Given the description of an element on the screen output the (x, y) to click on. 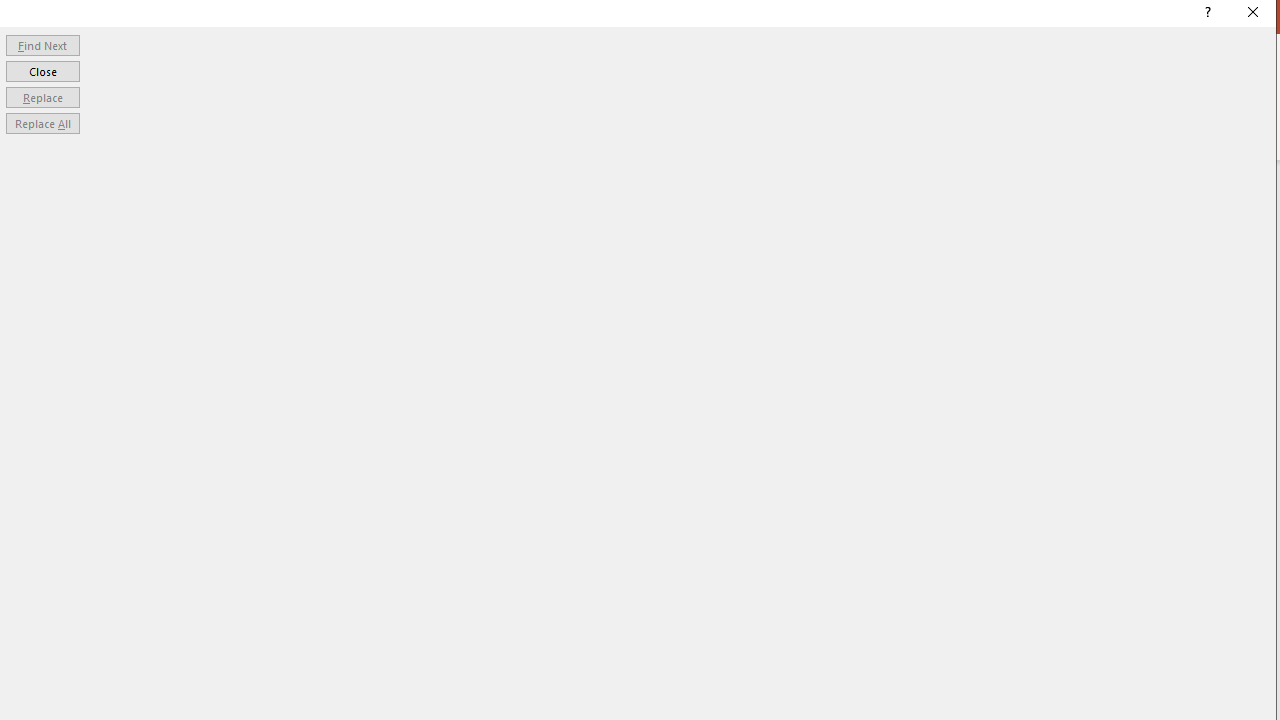
Replace All (42, 123)
Find Next (42, 44)
Replace (42, 96)
